Given the description of an element on the screen output the (x, y) to click on. 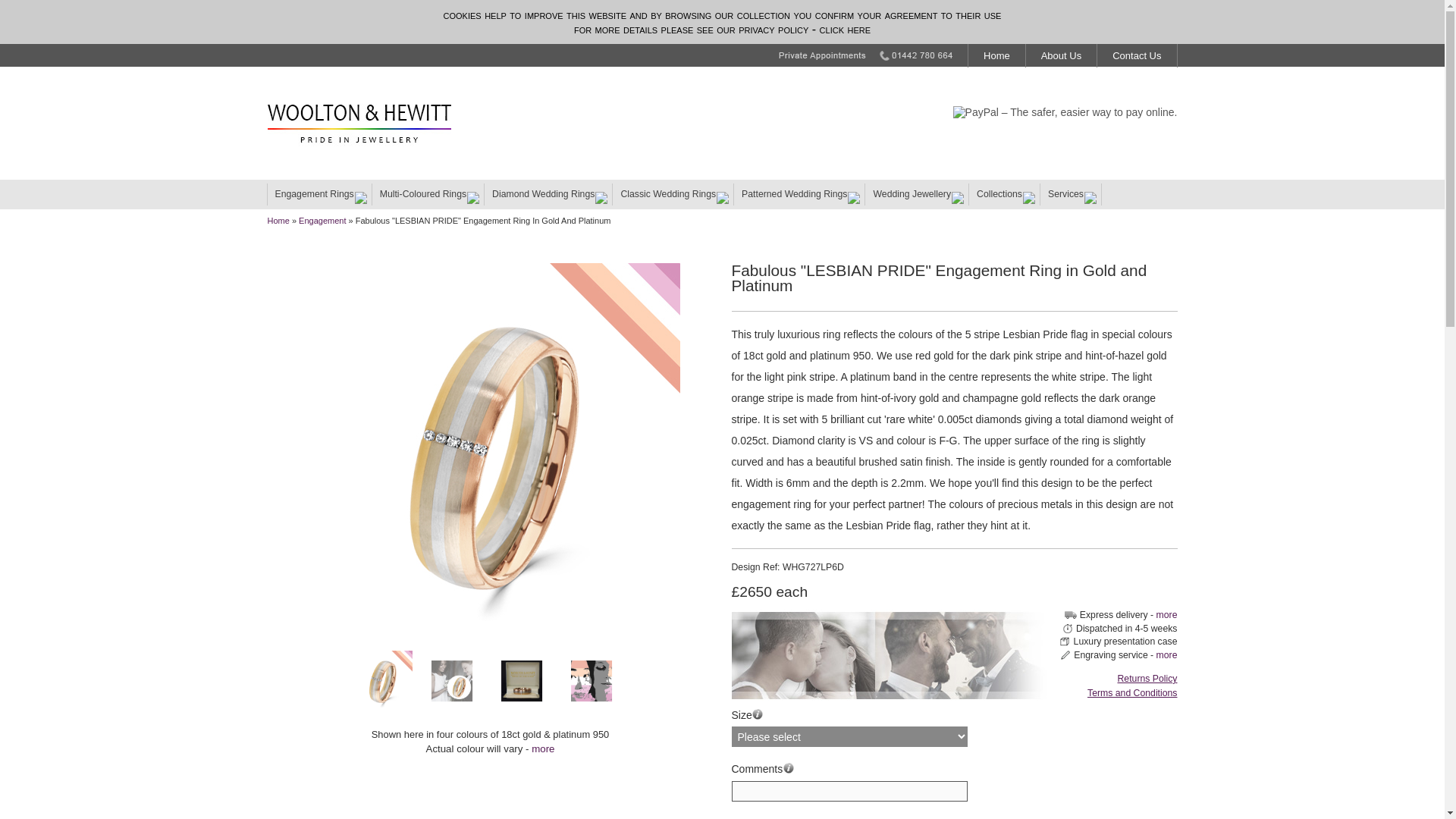
Multi-Coloured Rings (428, 194)
Patterned Wedding Rings (798, 194)
Collections (1005, 194)
Engagement Rings (318, 194)
Classic Wedding Rings (672, 194)
Contact Us (1136, 55)
Wedding Jewellery (916, 194)
Diamond Wedding Rings (548, 194)
About Us (1061, 55)
Home (996, 55)
